Given the description of an element on the screen output the (x, y) to click on. 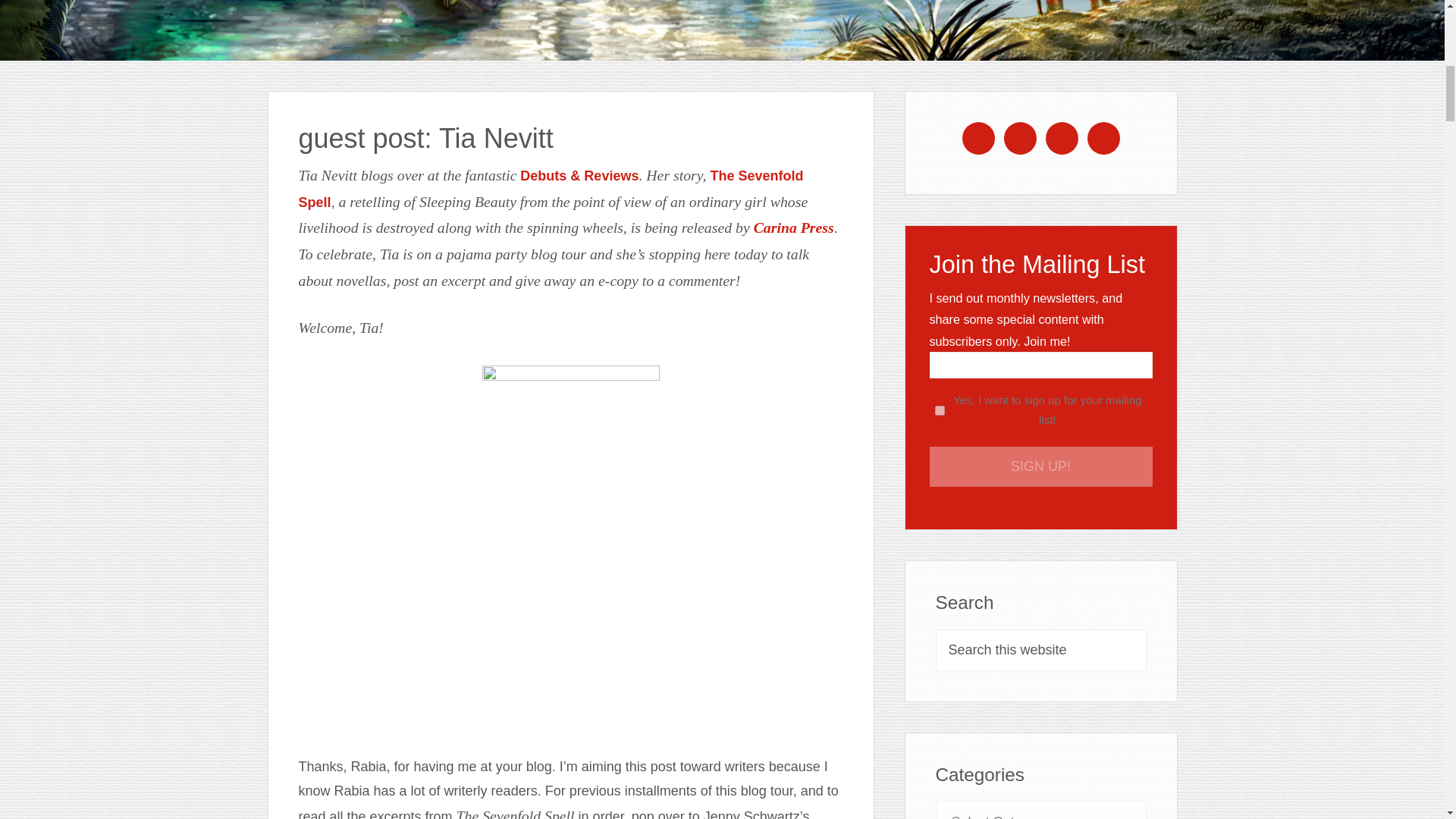
Yes, I want to sign up for your mailing list! (939, 410)
The Sevenfold Spell (550, 188)
Sign Up! (1041, 466)
Carina Press (794, 227)
